Given the description of an element on the screen output the (x, y) to click on. 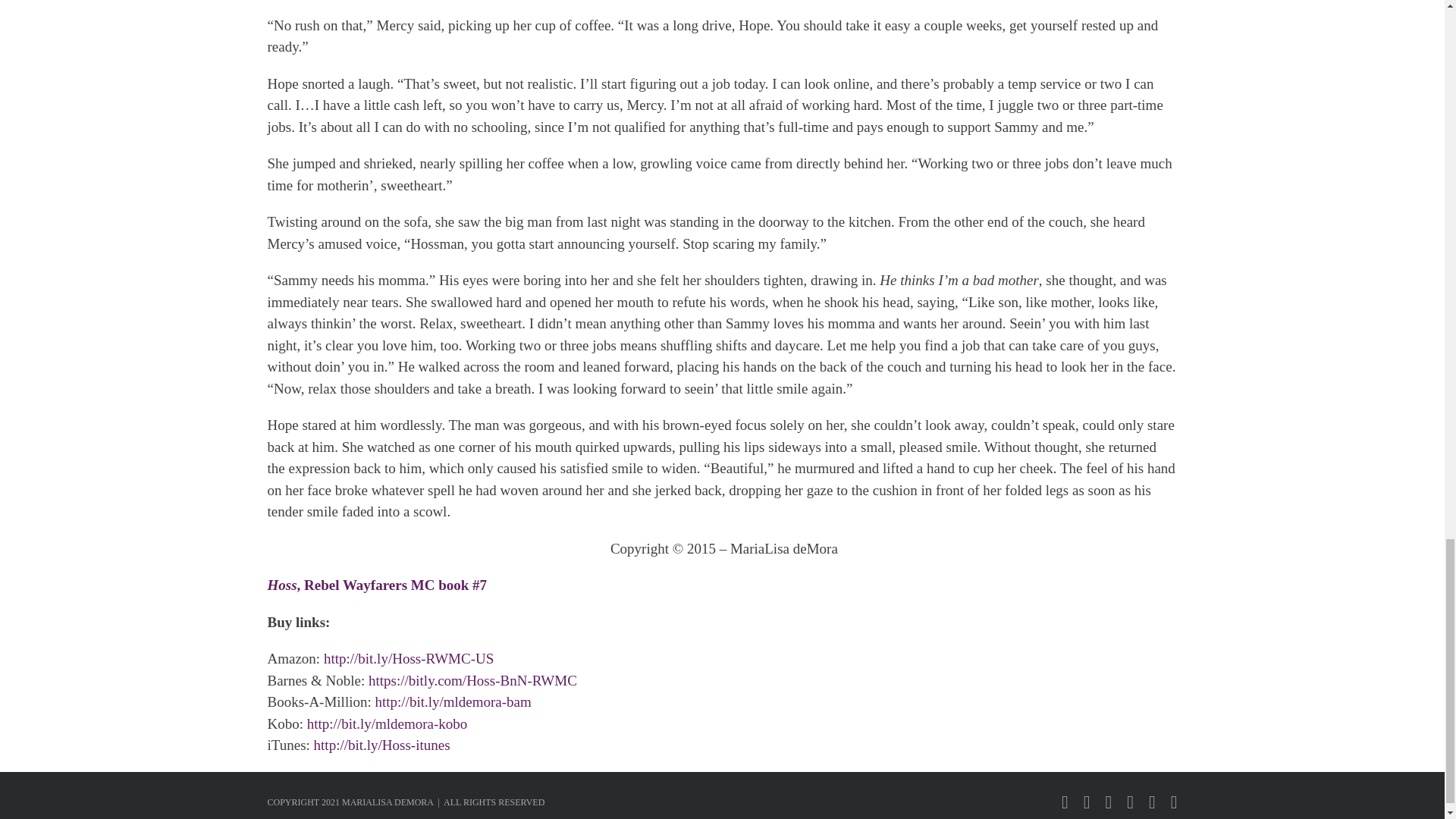
Hoss - iTunes (381, 744)
MariaLisa deMora - Kobo (387, 723)
MariaLisa deMora - Books-A-Million (452, 701)
Hoss - Amazon (408, 658)
